Given the description of an element on the screen output the (x, y) to click on. 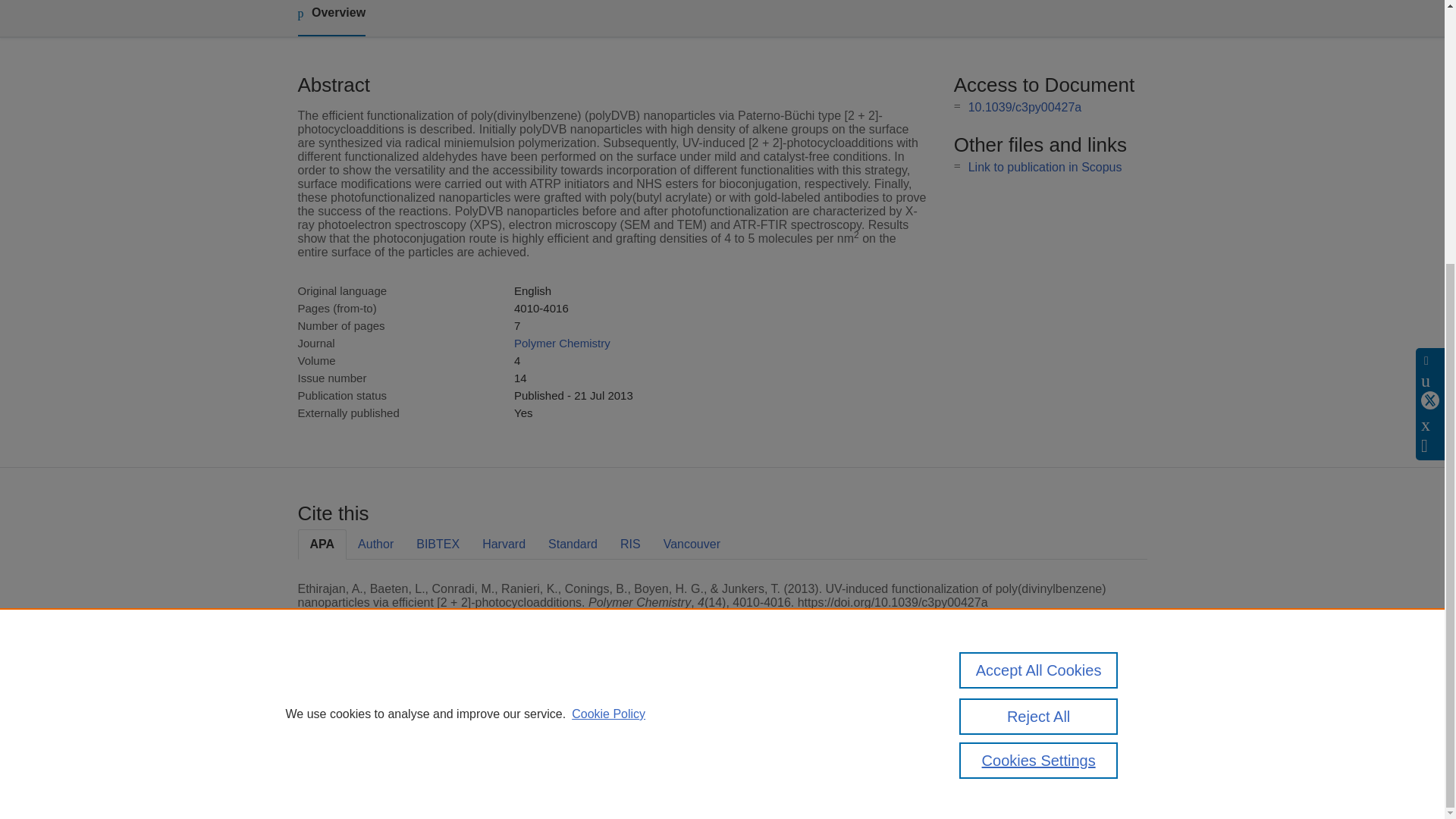
Link to publication in Scopus (1045, 166)
Elsevier B.V. (506, 728)
Report vulnerability (1000, 760)
Cookie Policy (608, 332)
About web accessibility (1008, 740)
use of cookies (796, 760)
Monash University data protection policy (1009, 713)
Overview (331, 18)
Cookies Settings (1038, 379)
Polymer Chemistry (561, 342)
